Given the description of an element on the screen output the (x, y) to click on. 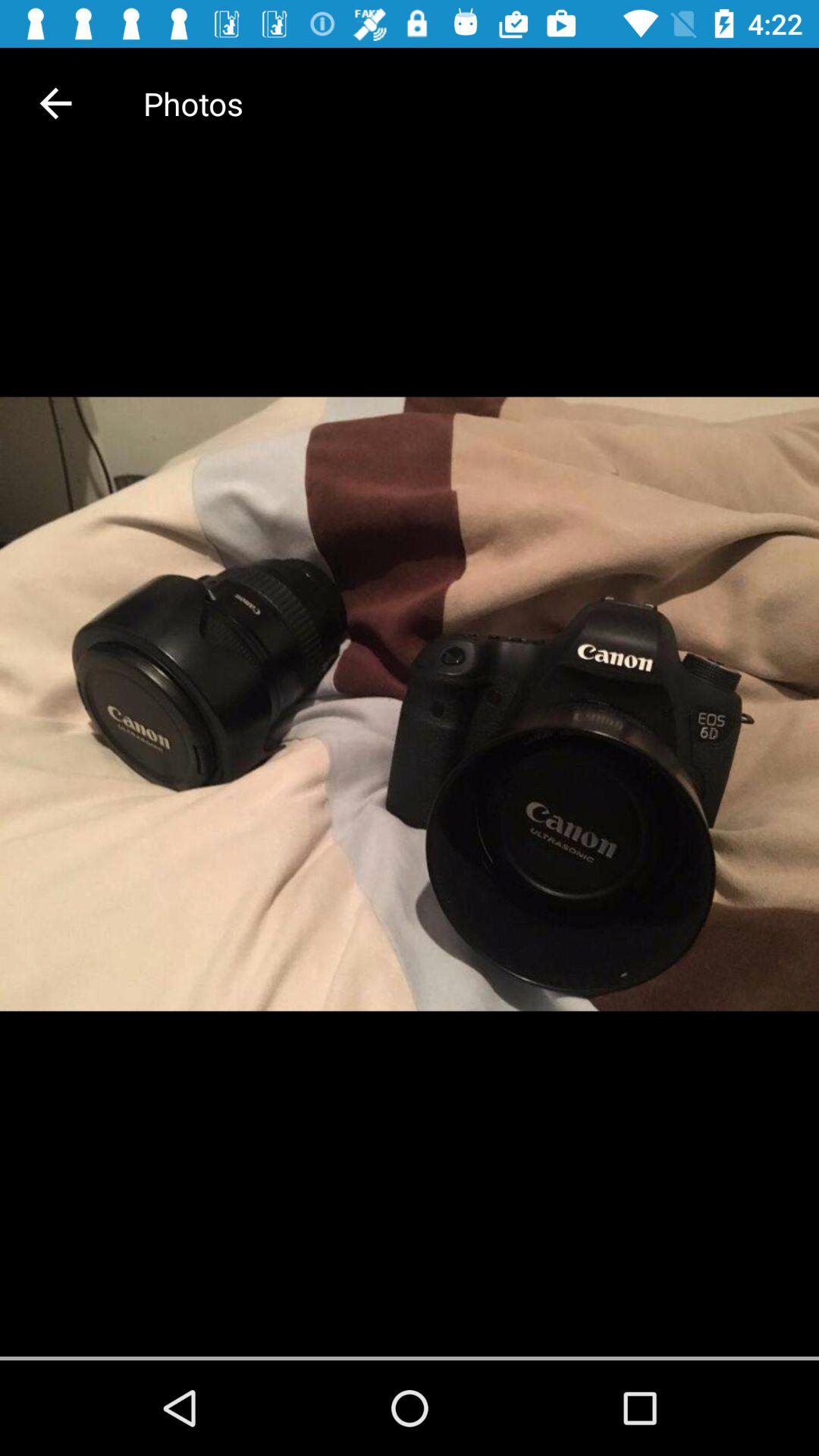
open item next to the photos icon (55, 103)
